Given the description of an element on the screen output the (x, y) to click on. 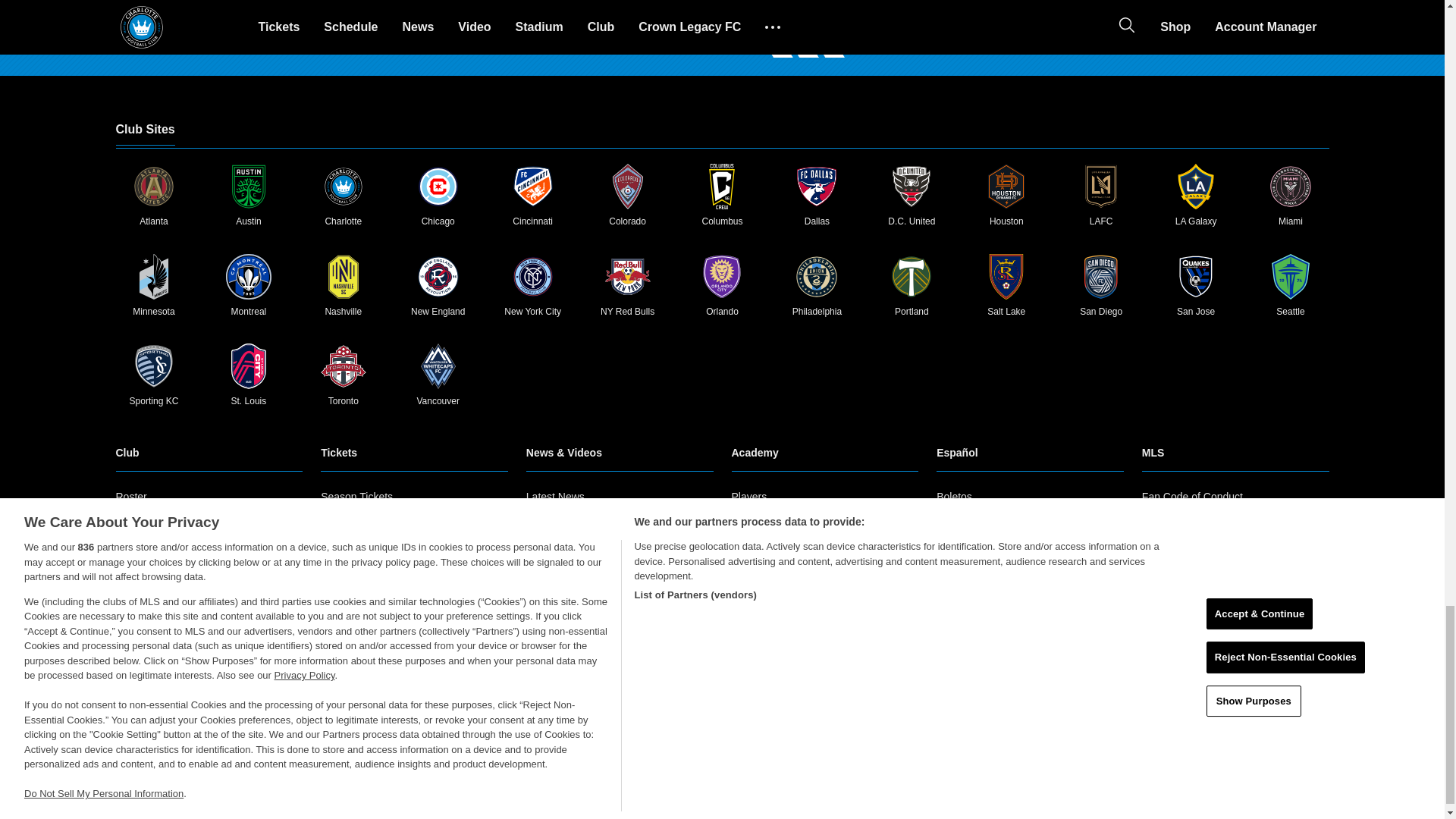
Link to Atlanta (153, 186)
Link to Charlotte (343, 186)
Link to Austin (247, 186)
